Given the description of an element on the screen output the (x, y) to click on. 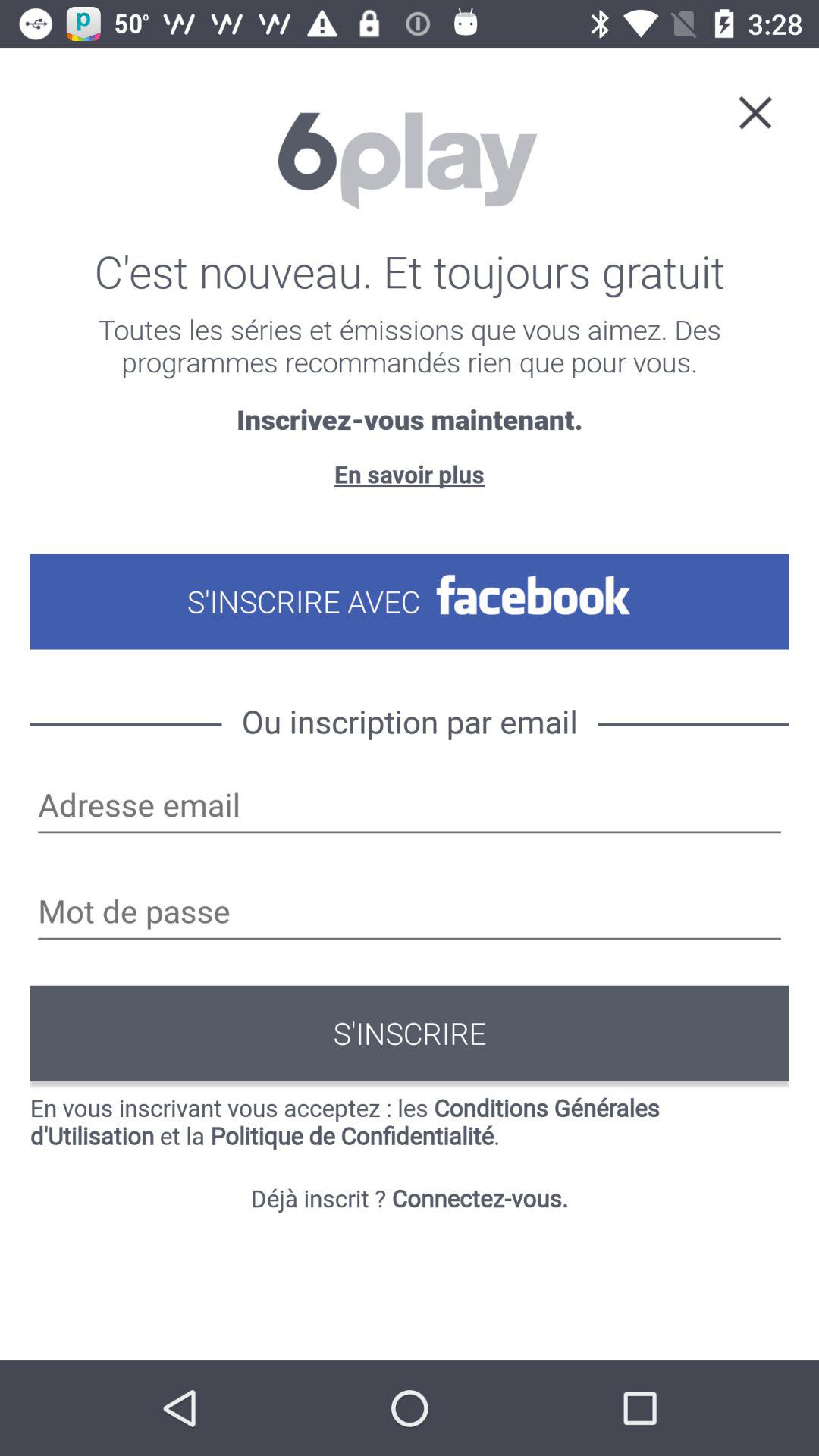
select the icon below the inscrivez-vous maintenant. (409, 473)
